Given the description of an element on the screen output the (x, y) to click on. 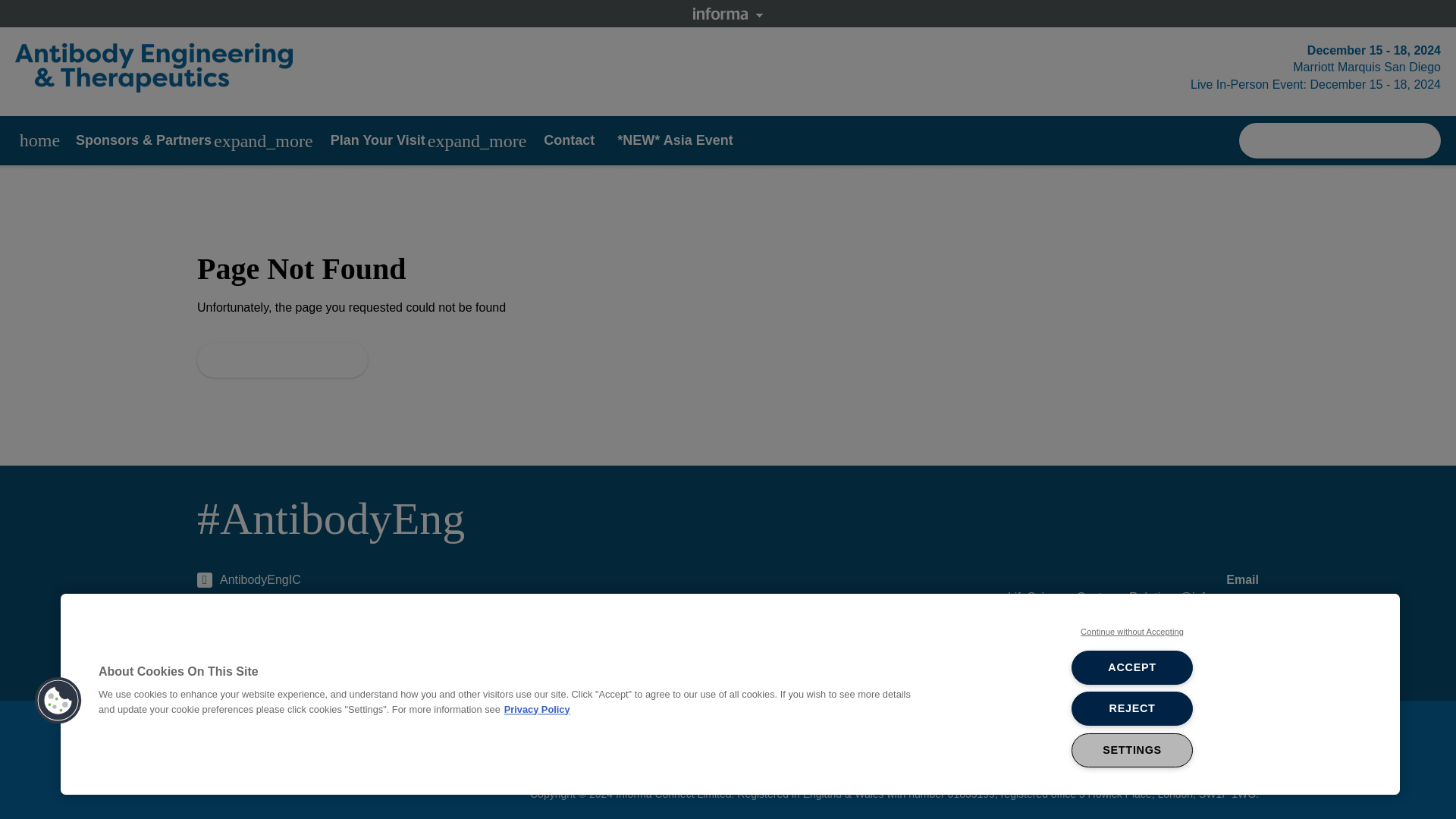
CCPA: Do not sell my personal info (1157, 741)
Cookies Button (57, 700)
Secure Your Spot (1340, 140)
Cookies Button (57, 700)
Continue without Accepting (1131, 631)
REJECT (1131, 708)
Contact (759, 741)
SETTINGS (1131, 750)
ACCEPT (1131, 667)
Privacy (813, 741)
home (39, 140)
Visit homepage (282, 360)
Privacy Policy (536, 708)
Connect Life Sciences (268, 654)
Contact (568, 140)
